Given the description of an element on the screen output the (x, y) to click on. 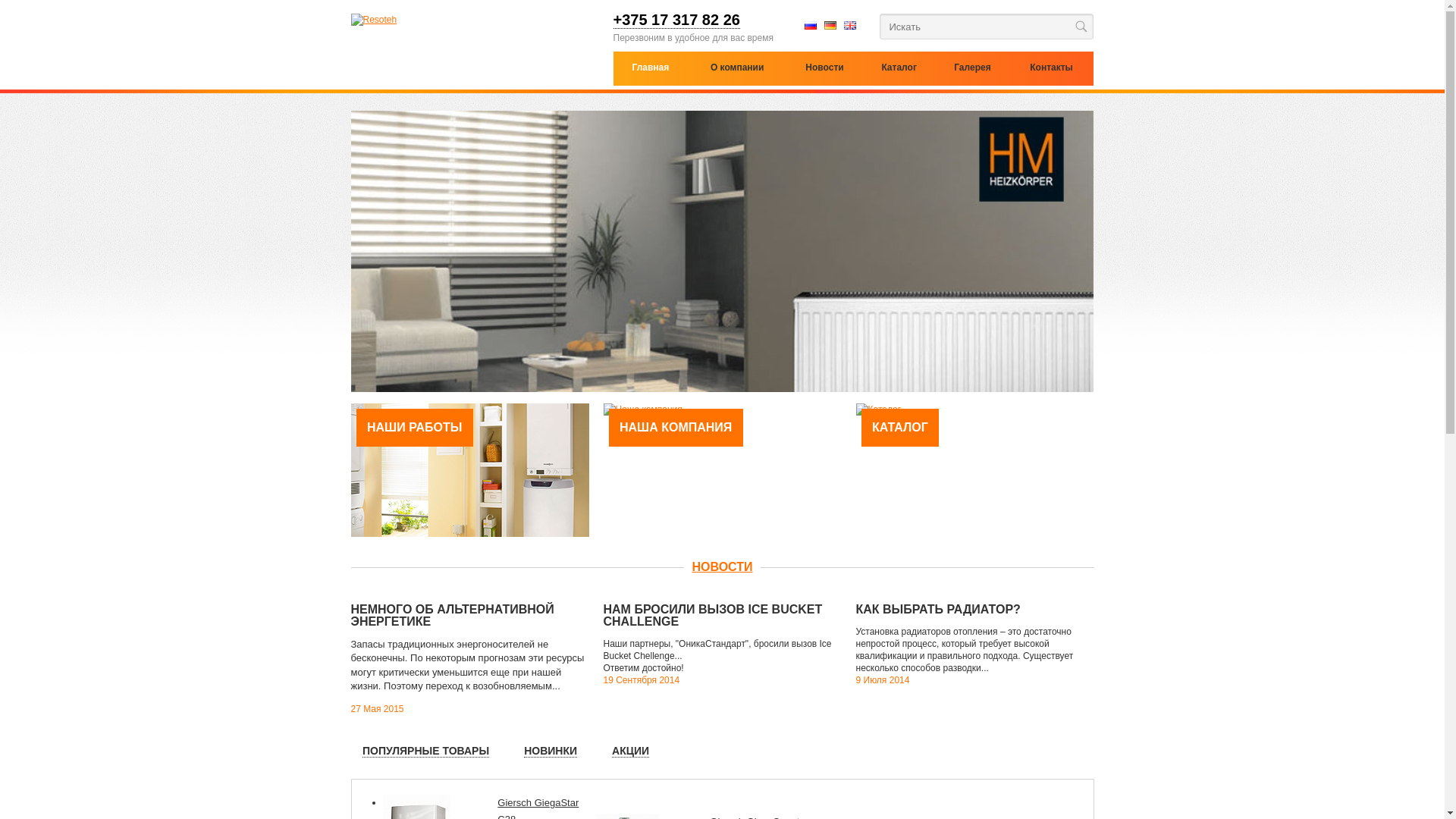
slide 1 Element type: hover (721, 251)
+375 17 317 82 26 Element type: text (675, 20)
